Given the description of an element on the screen output the (x, y) to click on. 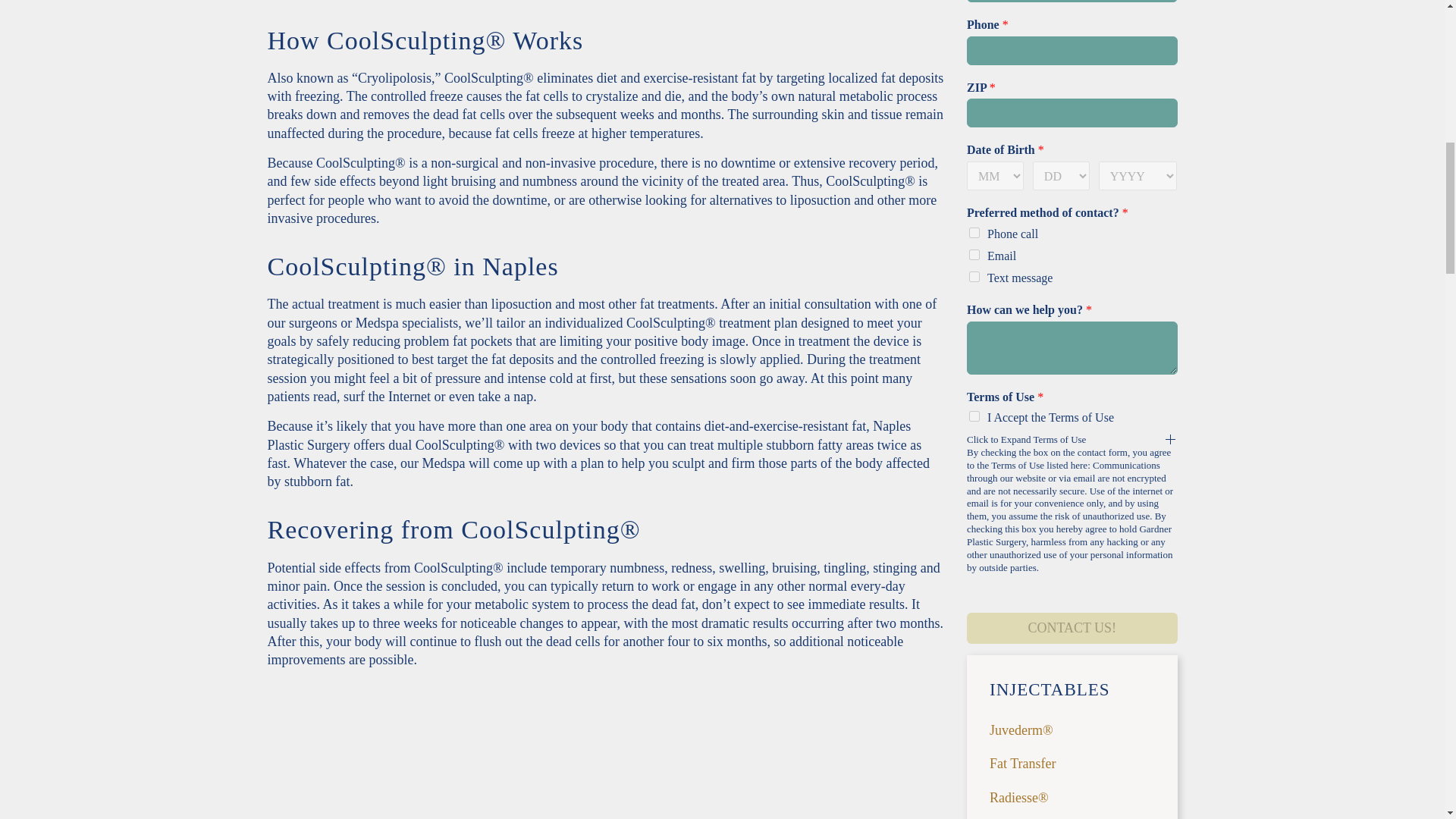
Phone call (974, 232)
Email (974, 254)
I Accept the Terms of Use (974, 416)
Text message (974, 276)
